Given the description of an element on the screen output the (x, y) to click on. 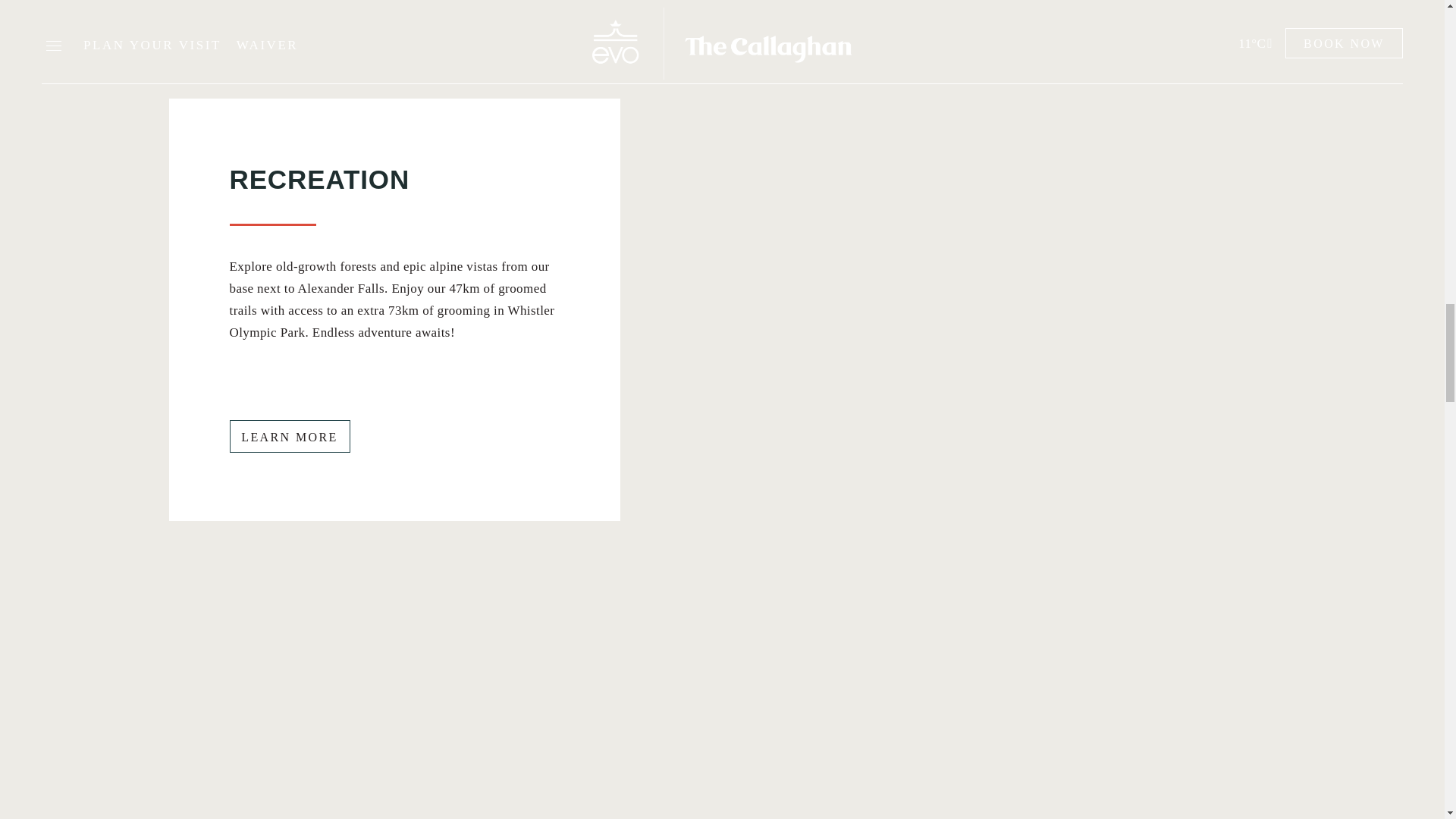
LEARN MORE (288, 436)
